Given the description of an element on the screen output the (x, y) to click on. 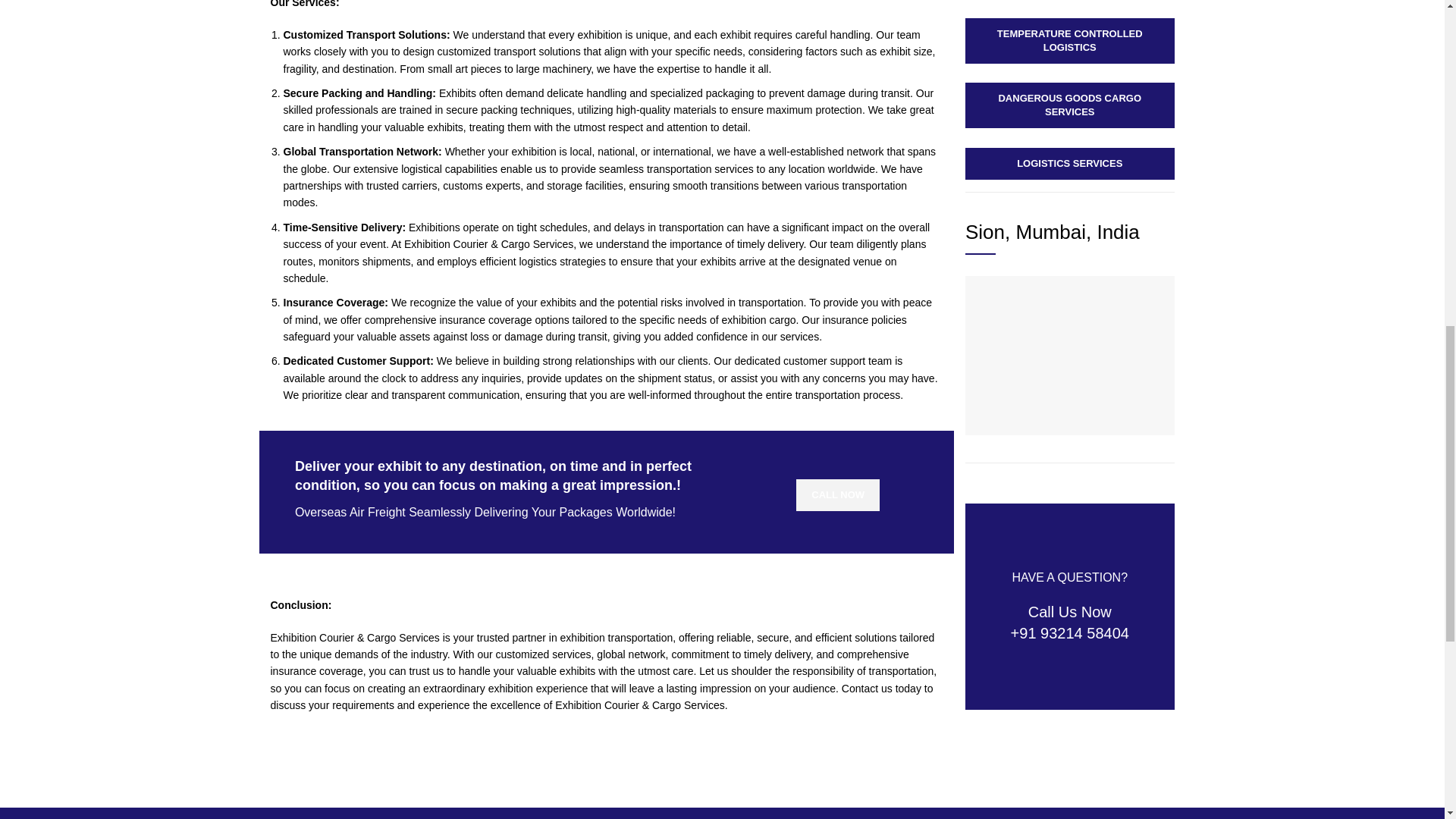
tel:9321458404 (837, 495)
Temperature Controlled Logistics (1069, 40)
Dangerous Goods Cargo Services (1069, 104)
